Given the description of an element on the screen output the (x, y) to click on. 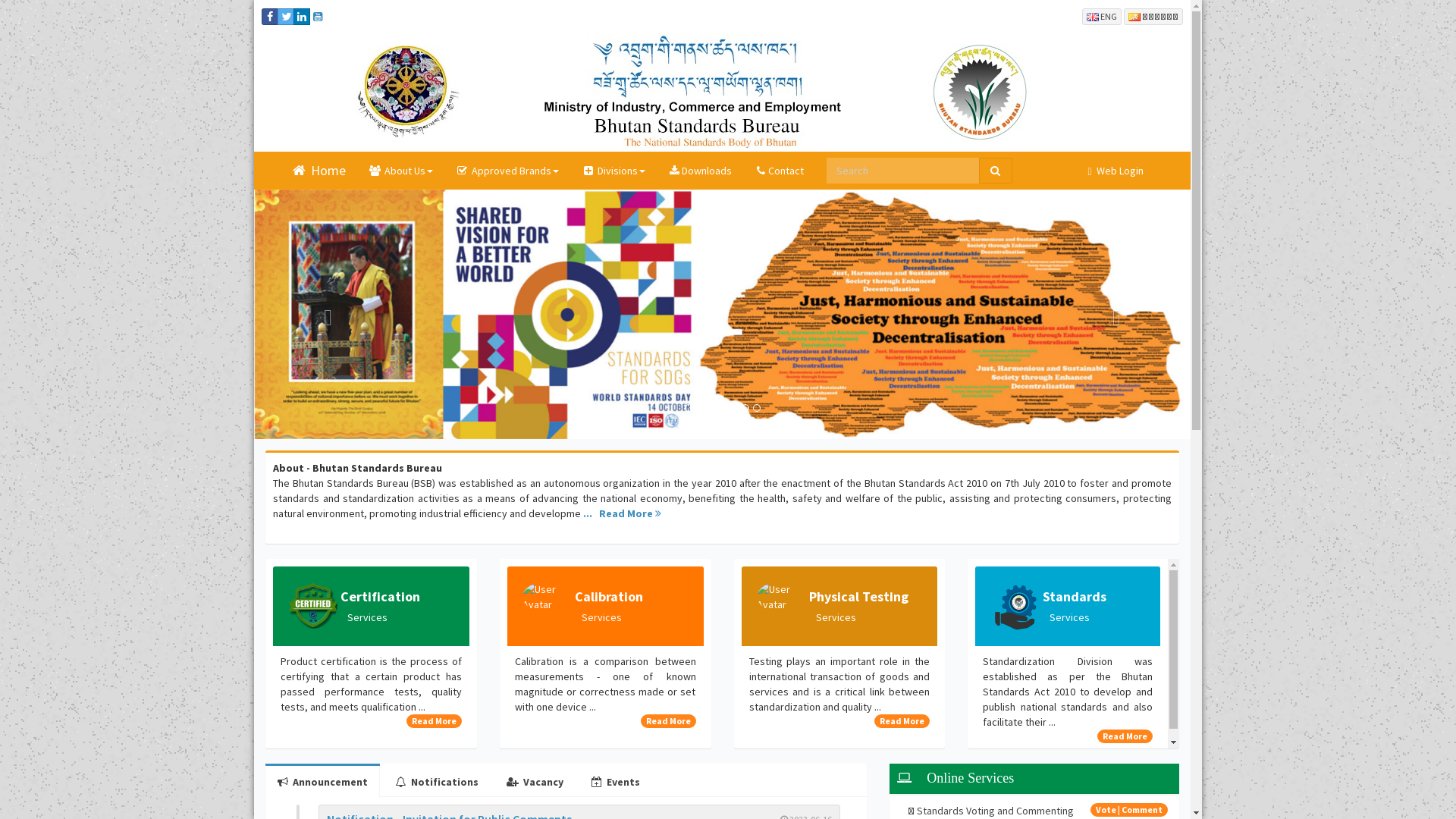
Previous Element type: text (324, 314)
Downloads Element type: text (699, 170)
ENG Element type: text (1101, 16)
Approved Brands Element type: text (507, 170)
About Us Element type: text (400, 170)
Contact Element type: text (779, 170)
  Web Login Element type: text (1115, 170)
ENG Element type: text (1101, 14)
...   Read More  Element type: text (622, 513)
  Announcement Element type: text (322, 781)
  Events Element type: text (615, 781)
Next Element type: text (1120, 314)
  Vacancy Element type: text (534, 781)
  Notifications Element type: text (436, 781)
Home Element type: text (318, 170)
Divisions Element type: text (613, 170)
